Given the description of an element on the screen output the (x, y) to click on. 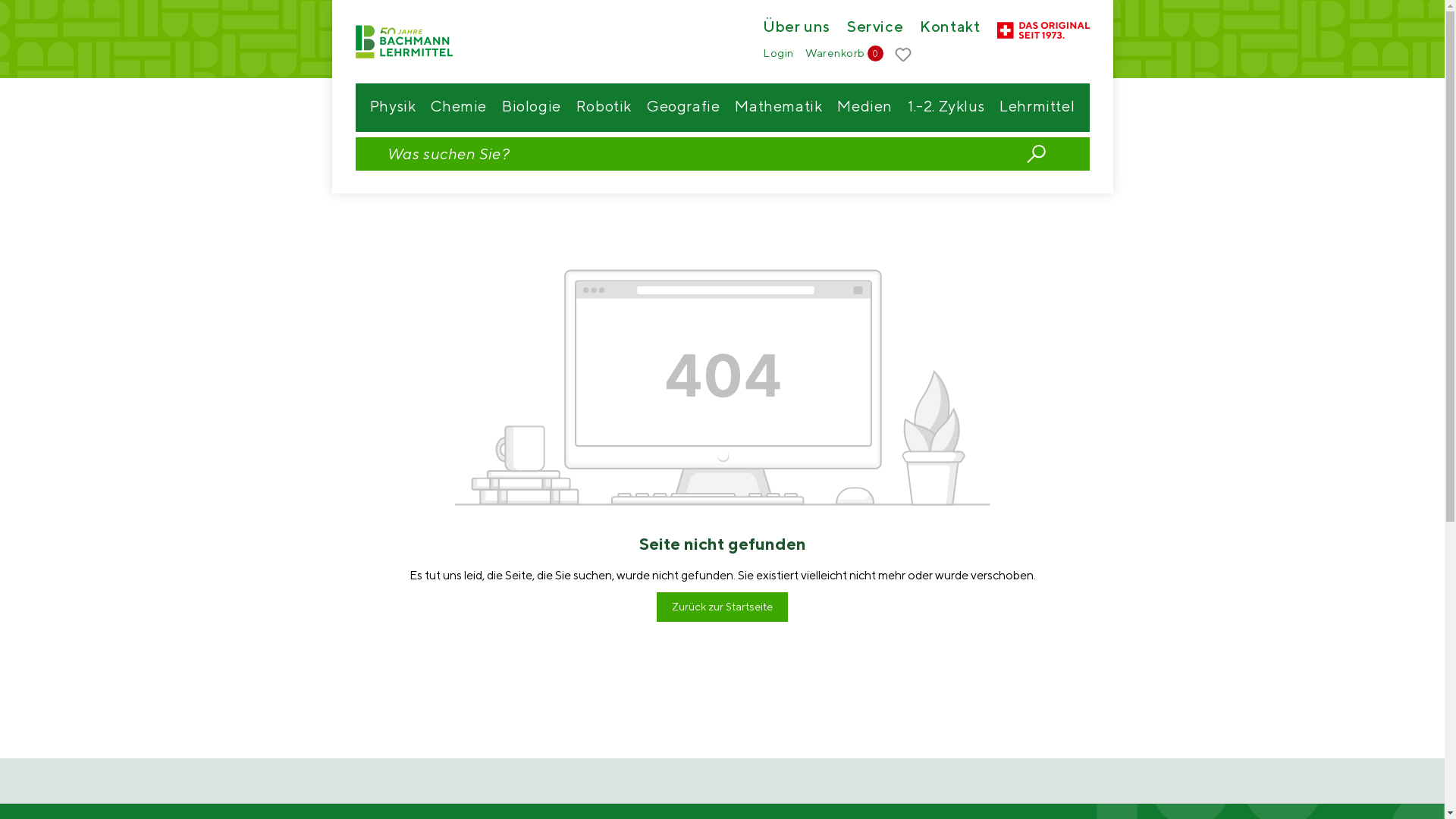
Login Element type: text (777, 53)
Medien Element type: text (864, 106)
Robotik Element type: text (603, 106)
Chemie Element type: text (458, 106)
Merkzettel Element type: hover (902, 54)
Lehrmittel Element type: text (1036, 106)
1.-2. Zyklus Element type: text (945, 106)
Zur Startseite wechseln Element type: hover (408, 41)
Geografie Element type: text (682, 106)
Mathematik Element type: text (778, 106)
Warenkorb
0 Element type: text (844, 53)
Biologie Element type: text (531, 106)
Physik Element type: text (393, 106)
Kontakt Element type: text (949, 28)
Service Element type: text (875, 28)
